Given the description of an element on the screen output the (x, y) to click on. 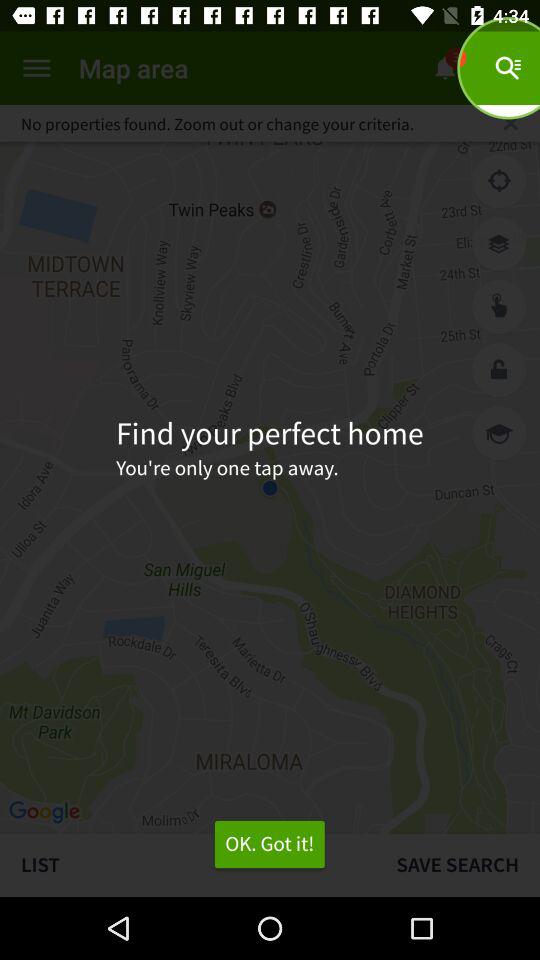
turn off icon to the right of the list (457, 864)
